Given the description of an element on the screen output the (x, y) to click on. 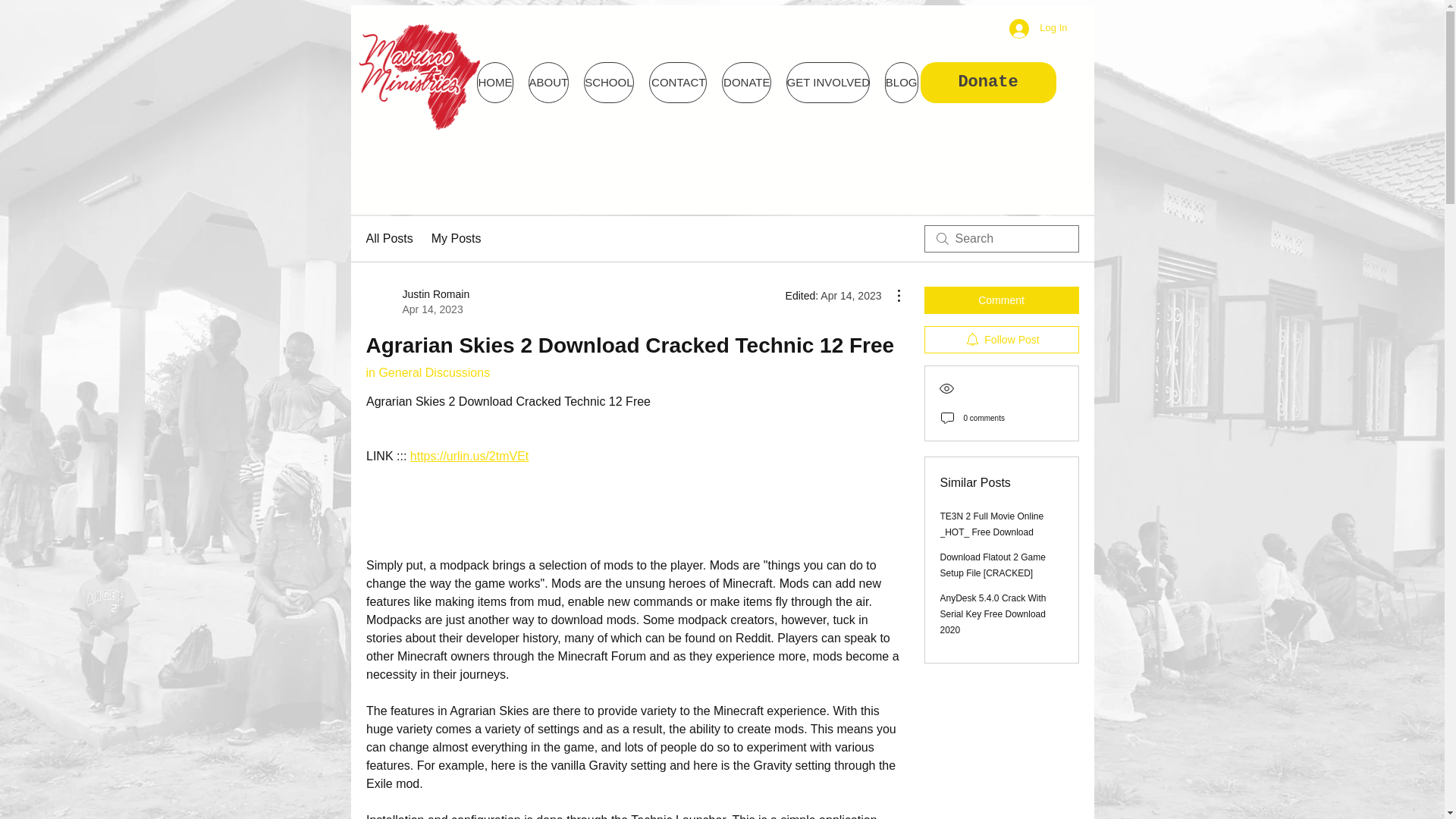
My Posts (455, 239)
DONATE (746, 82)
ABOUT (547, 82)
All Posts (416, 301)
Log In (388, 239)
Donate (1037, 27)
CONTACT (988, 82)
in General Discussions (677, 82)
HOME (427, 372)
